Given the description of an element on the screen output the (x, y) to click on. 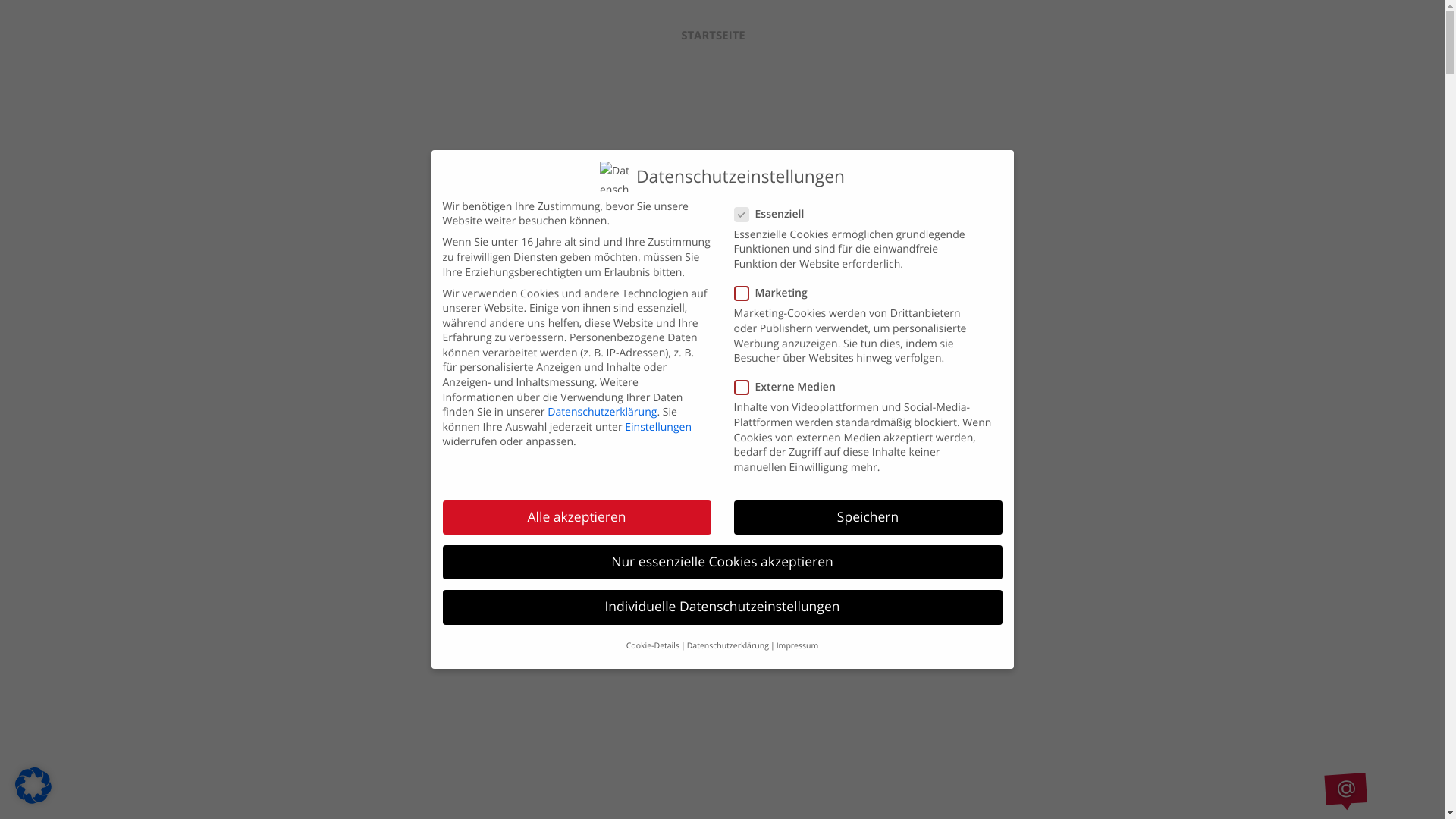
DATENSCHUTZ Element type: text (1047, 36)
Impressum Element type: text (769, 743)
JOBS Element type: text (788, 36)
Impressum Element type: text (797, 646)
Speichern Element type: text (868, 517)
STARTSEITE Element type: text (712, 36)
Alle akzeptieren Element type: text (576, 517)
Einstellungen Element type: text (657, 427)
FAQ Element type: text (844, 36)
Datenschutz Element type: text (839, 743)
DMSL Transport GmbH Element type: text (672, 743)
Cookie-Details Element type: text (652, 646)
Nur essenzielle Cookies akzeptieren Element type: text (722, 562)
Individuelle Datenschutzeinstellungen Element type: text (722, 606)
ZUR HOMEPAGE Element type: text (931, 36)
GALERIE Element type: text (1142, 36)
